Given the description of an element on the screen output the (x, y) to click on. 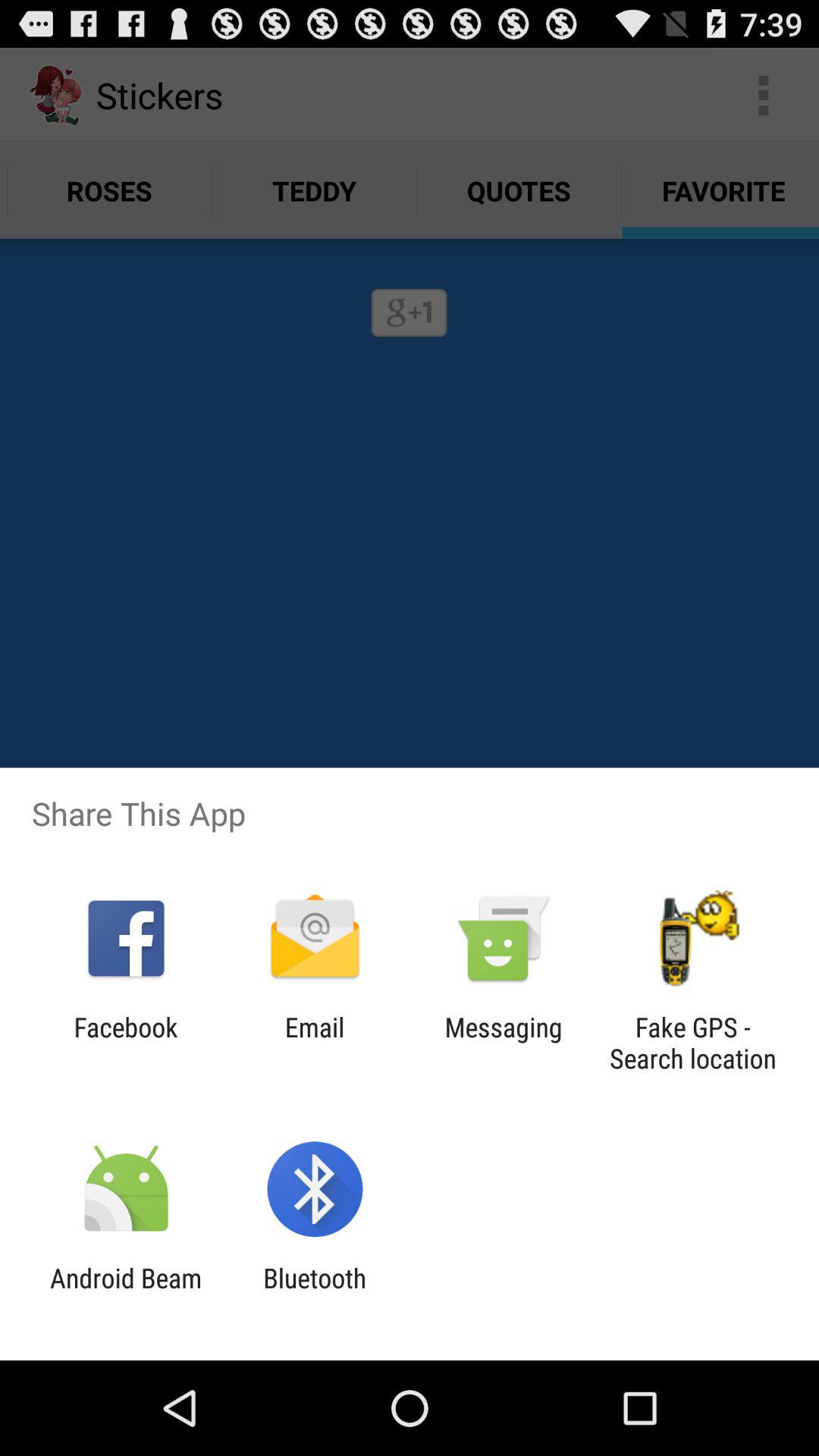
jump to the email icon (314, 1042)
